Given the description of an element on the screen output the (x, y) to click on. 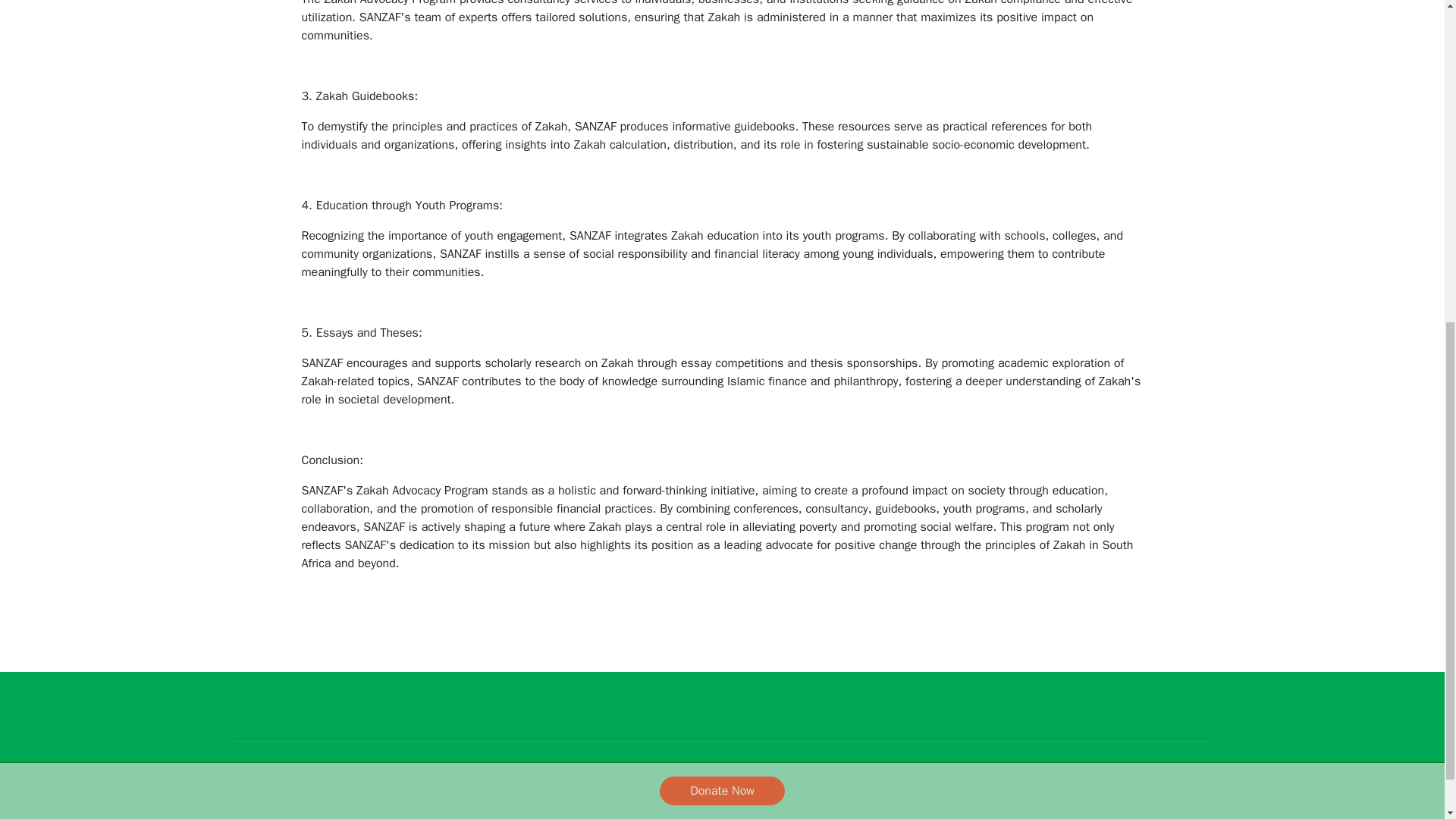
Donate Now with Payfast (721, 231)
